Given the description of an element on the screen output the (x, y) to click on. 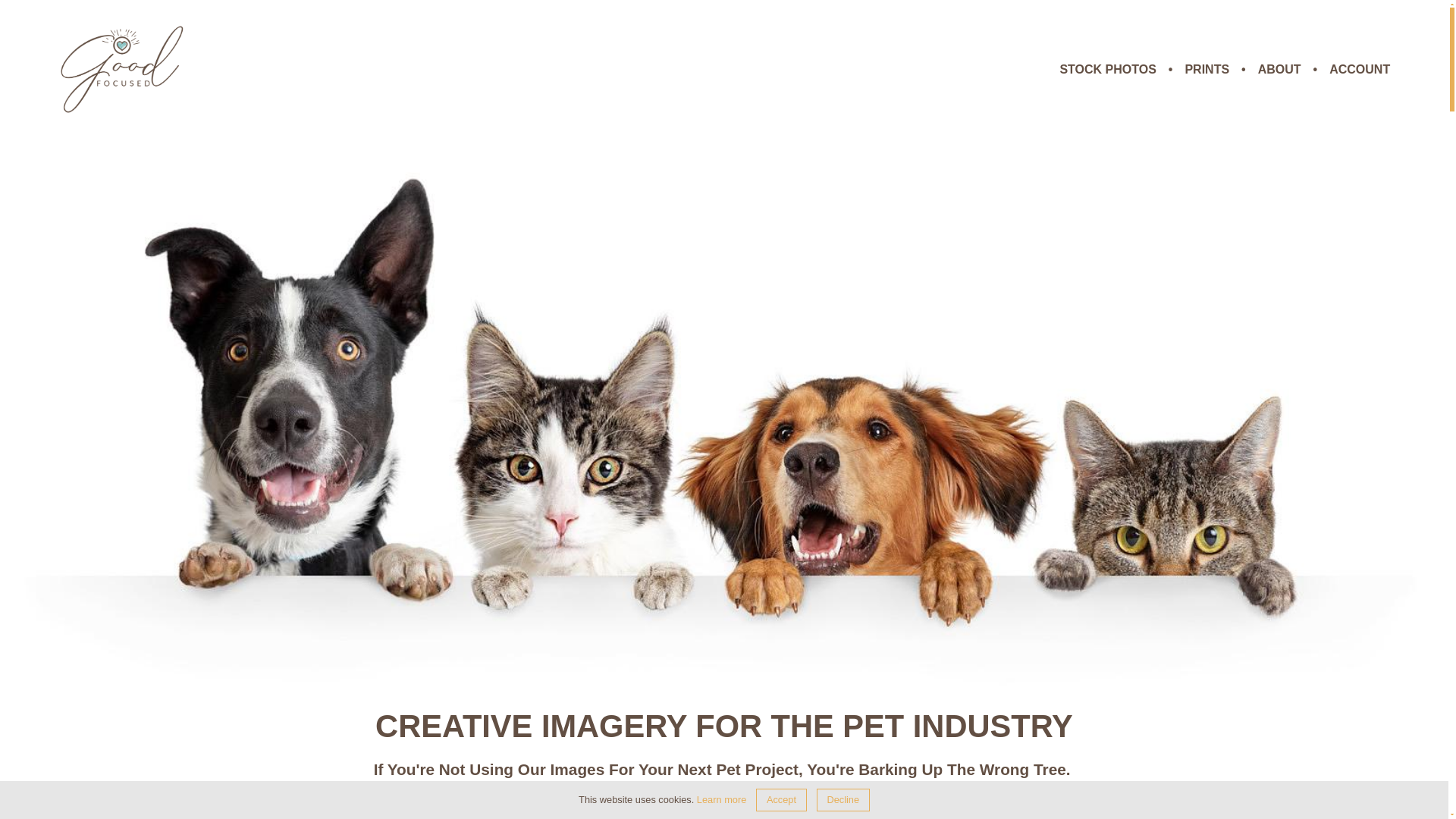
STOCK PHOTOS (1107, 69)
PRINTS (1206, 69)
ACCOUNT (1359, 69)
ABOUT (1279, 69)
